Given the description of an element on the screen output the (x, y) to click on. 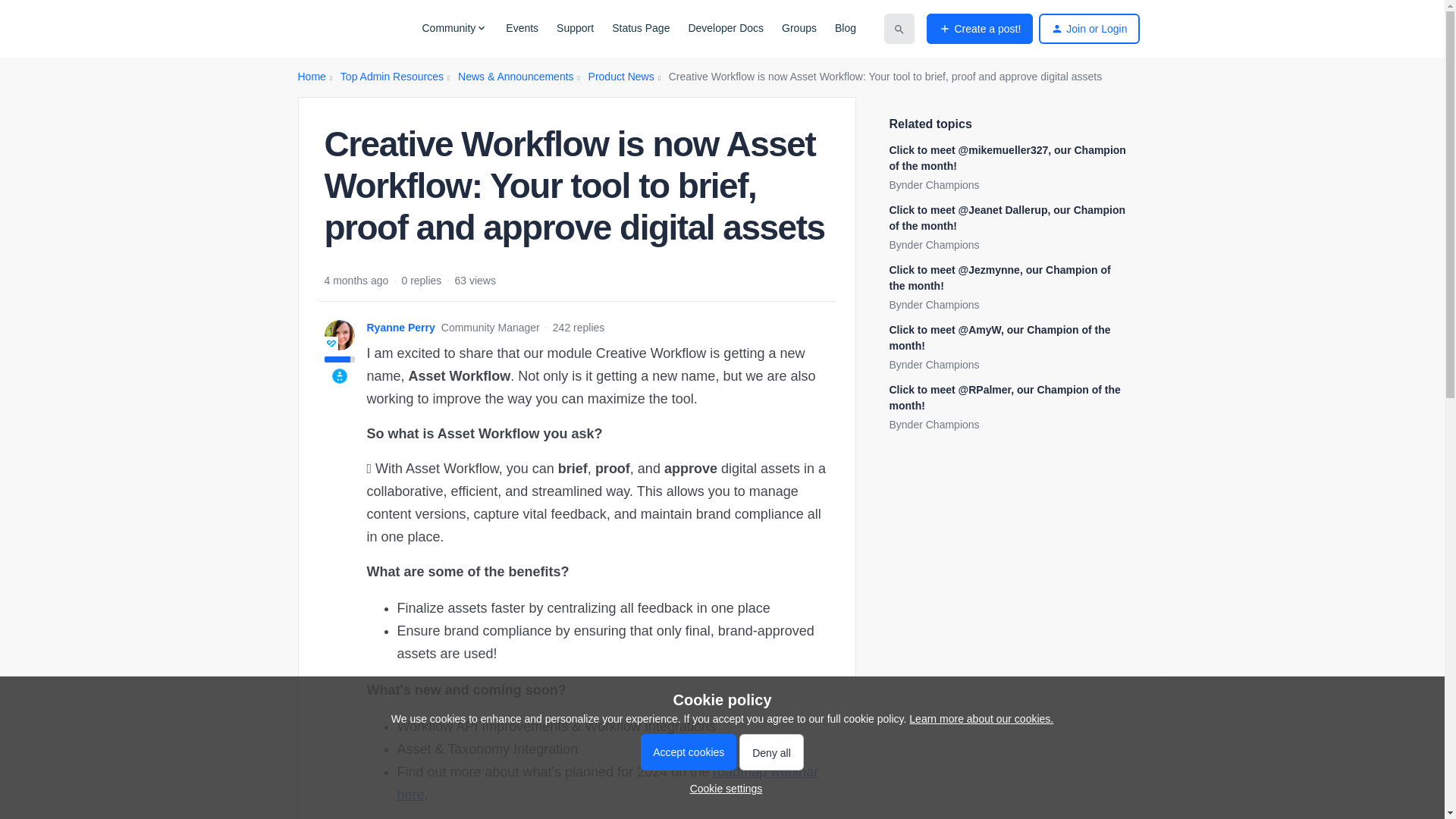
Events (521, 28)
Groups (798, 28)
Create a post! (979, 28)
Community (454, 28)
Status Page (640, 28)
roadmap webinar here (607, 783)
Blog (845, 28)
Ryanne Perry (400, 327)
0 replies (421, 280)
Join or Login (1088, 28)
Community Manager (330, 343)
Product News (620, 76)
Ryanne Perry (400, 327)
Home (310, 76)
Developer Docs (724, 28)
